Given the description of an element on the screen output the (x, y) to click on. 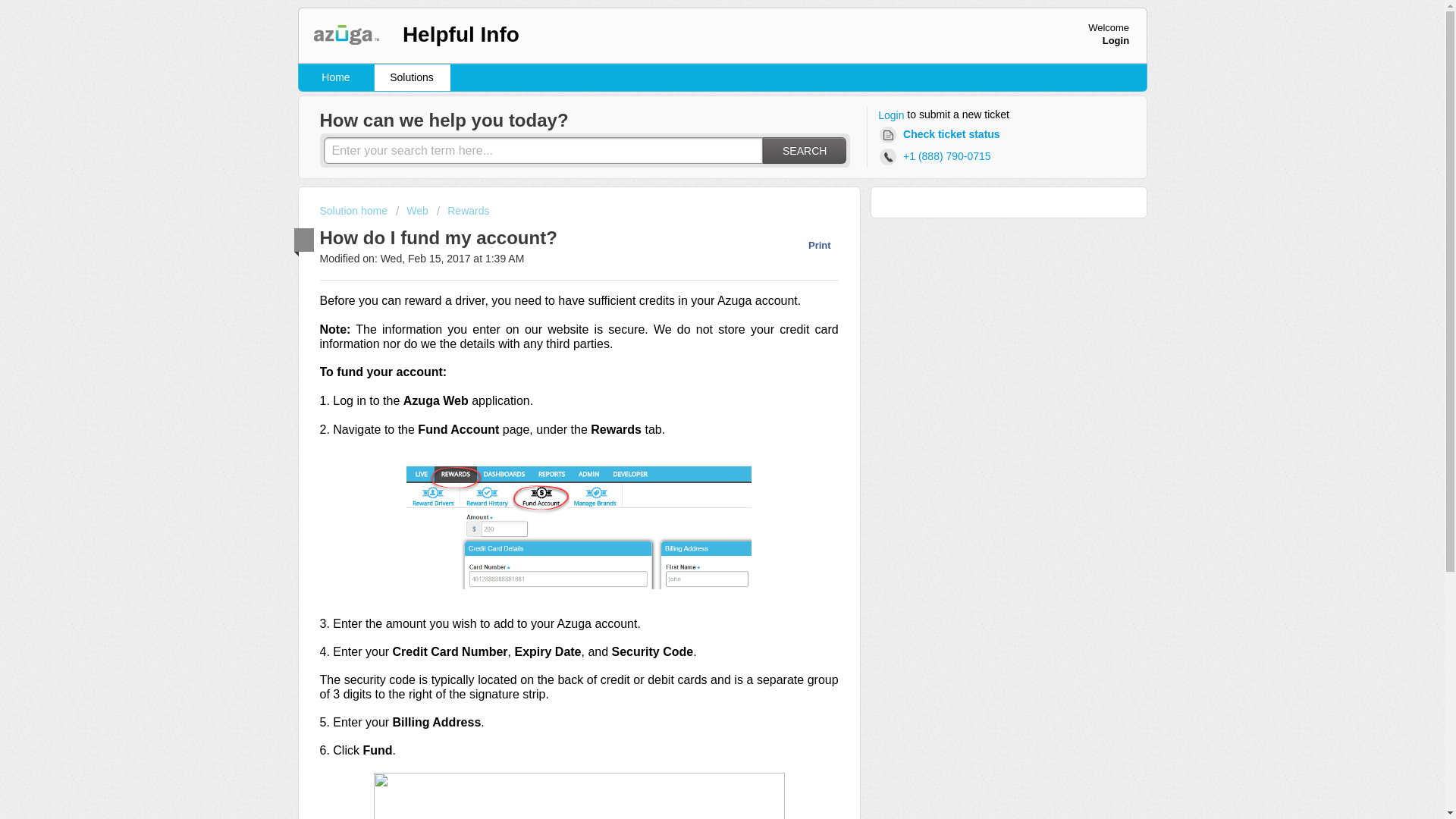
Solution home (355, 210)
Print (812, 244)
Rewards (462, 210)
Home (336, 77)
Login (890, 115)
Solutions (411, 77)
Login (1115, 40)
SEARCH (803, 150)
Check ticket status (941, 134)
Web (413, 210)
Check ticket status (941, 134)
Print this Article (812, 244)
